Given the description of an element on the screen output the (x, y) to click on. 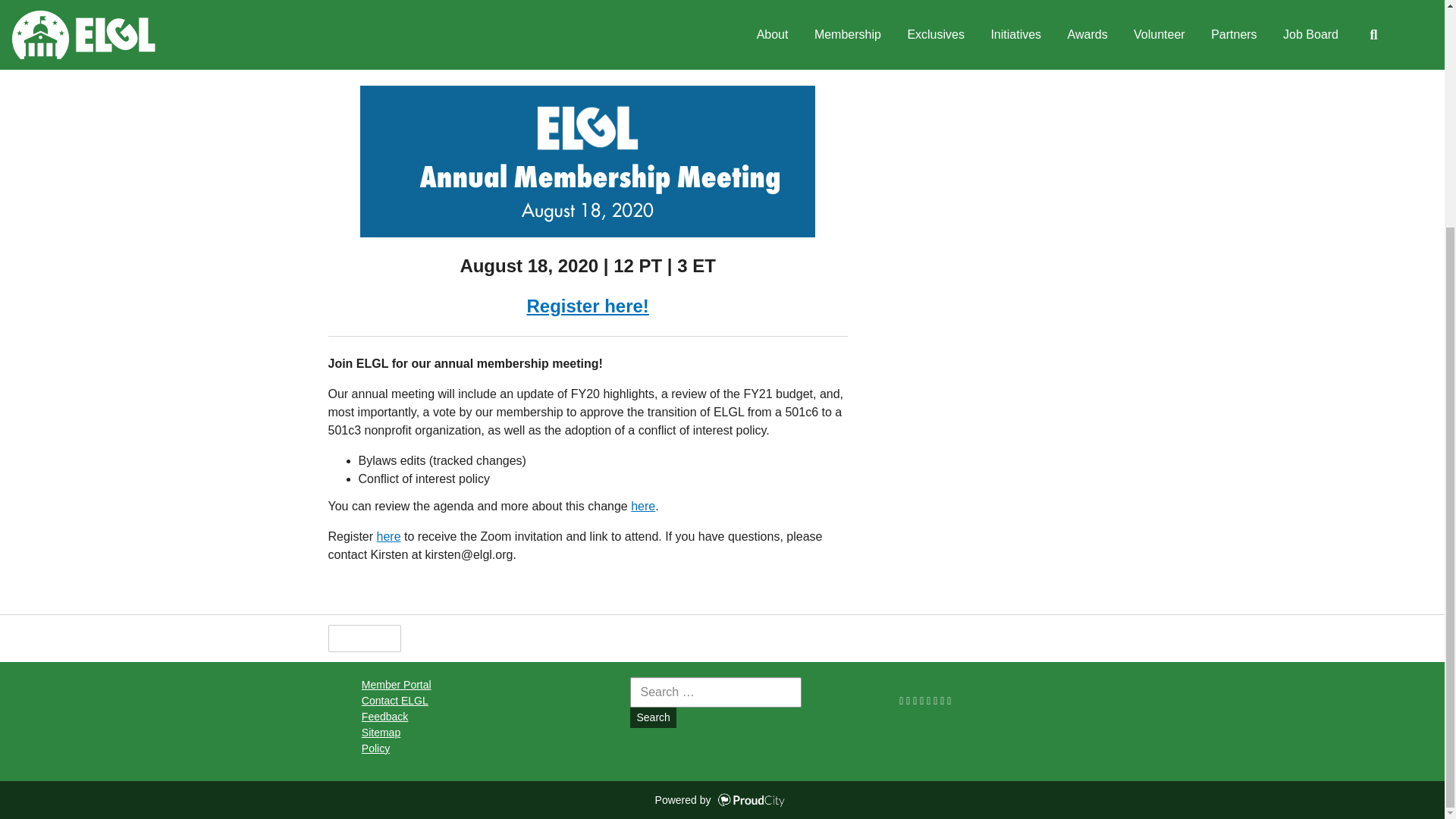
here (642, 505)
Contact ELGL (394, 700)
Member Portal (395, 684)
Helpful (364, 637)
Sitemap (380, 732)
here (389, 535)
Share (446, 26)
Add your event (991, 18)
Search (652, 717)
Translate (580, 638)
Size (504, 638)
Share (436, 638)
Register here! (586, 305)
Translate (580, 638)
Search (652, 717)
